Given the description of an element on the screen output the (x, y) to click on. 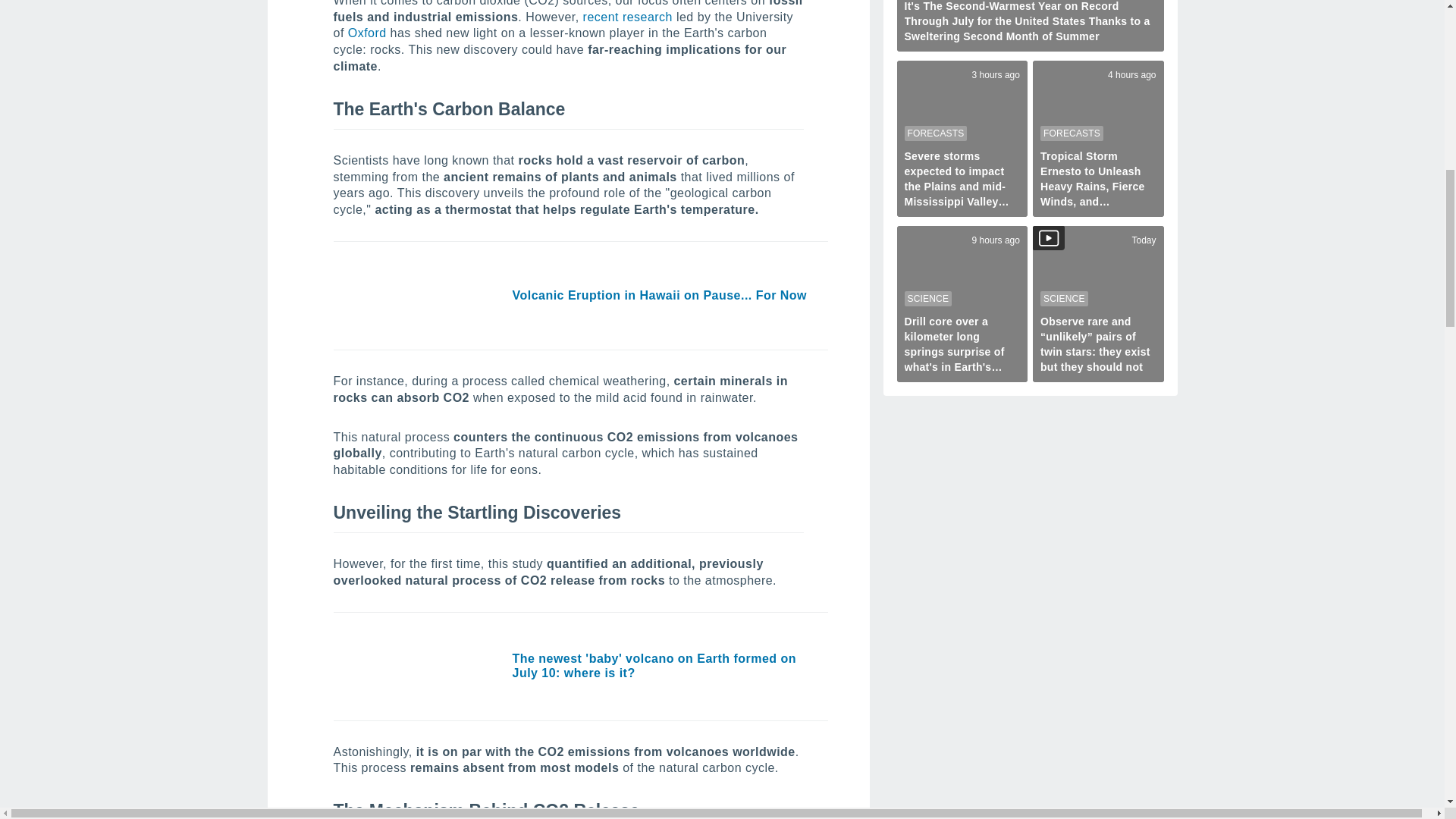
Volcanic Eruption in Hawaii on Pause... For Now (660, 295)
Oxford (367, 32)
Volcanic Eruption in Hawaii on Pause... For Now (660, 295)
Volcanic Eruption in Hawaii on Pause... For Now (421, 295)
recent research (627, 16)
